Given the description of an element on the screen output the (x, y) to click on. 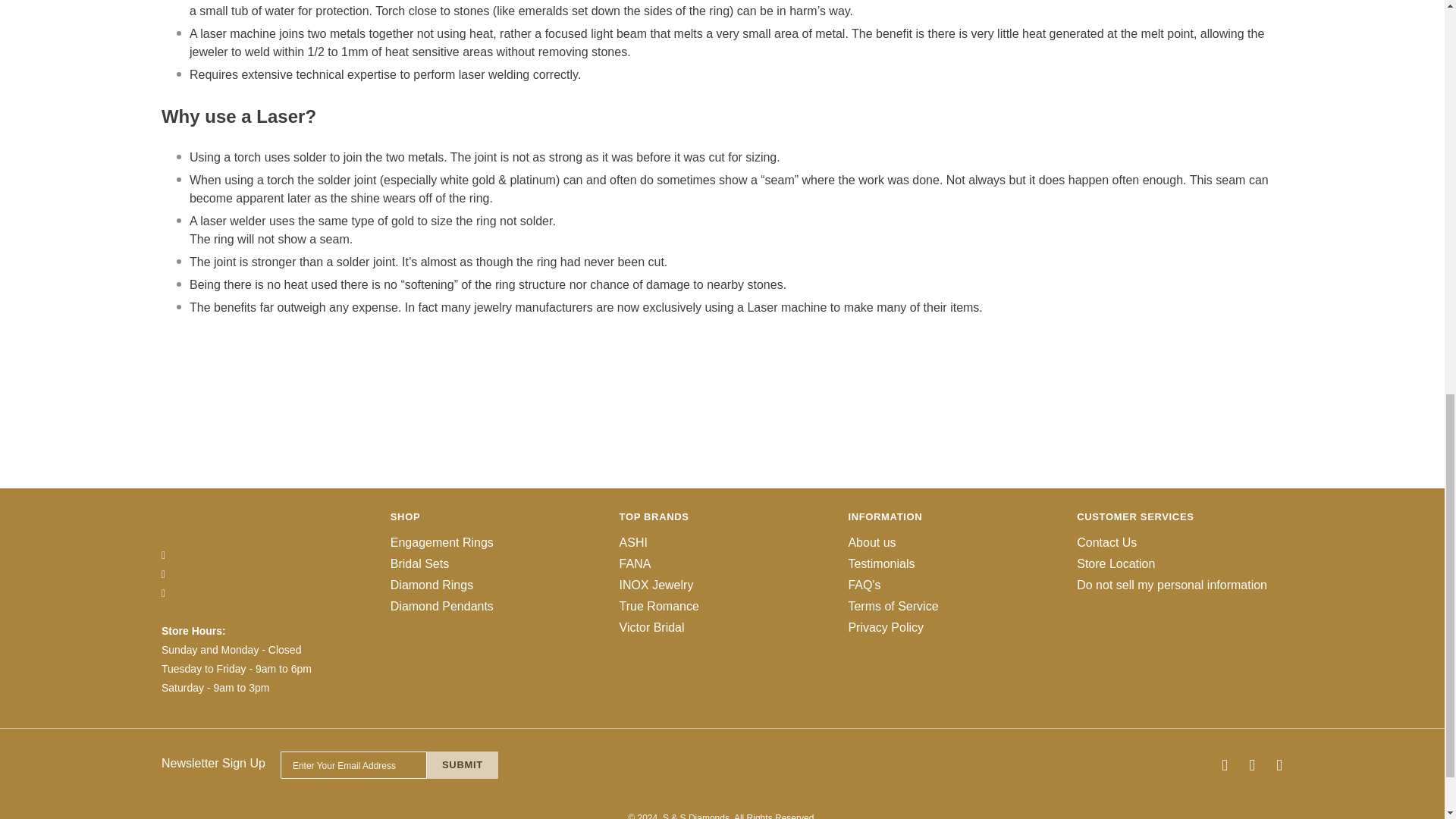
Submit (461, 764)
